Given the description of an element on the screen output the (x, y) to click on. 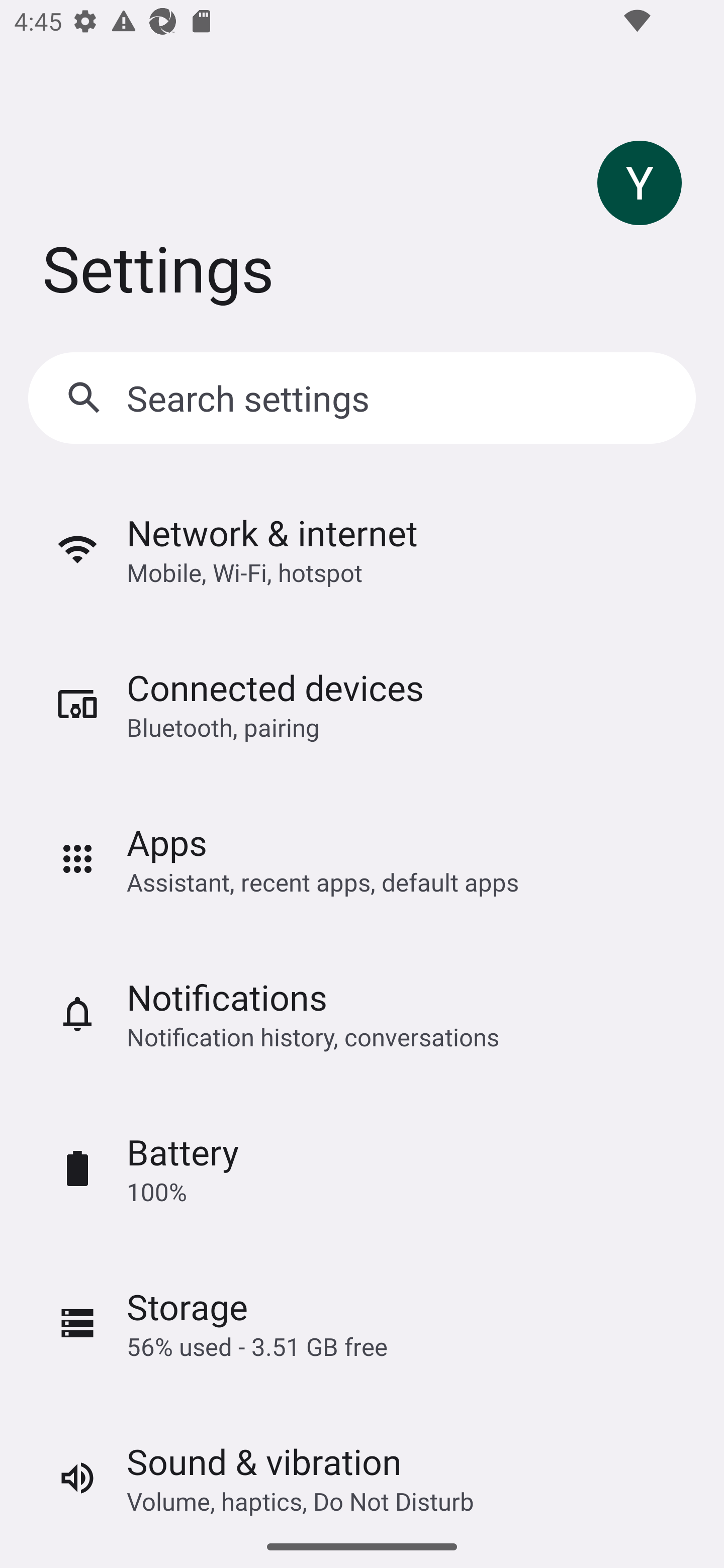
Profile picture, double tap to open Google Account (639, 183)
Search settings (361, 397)
Network & internet Mobile, Wi‑Fi, hotspot (362, 549)
Connected devices Bluetooth, pairing (362, 703)
Apps Assistant, recent apps, default apps (362, 858)
Notifications Notification history, conversations (362, 1013)
Battery 100% (362, 1168)
Storage 56% used - 3.51 GB free (362, 1323)
Sound & vibration Volume, haptics, Do Not Disturb (362, 1462)
